Given the description of an element on the screen output the (x, y) to click on. 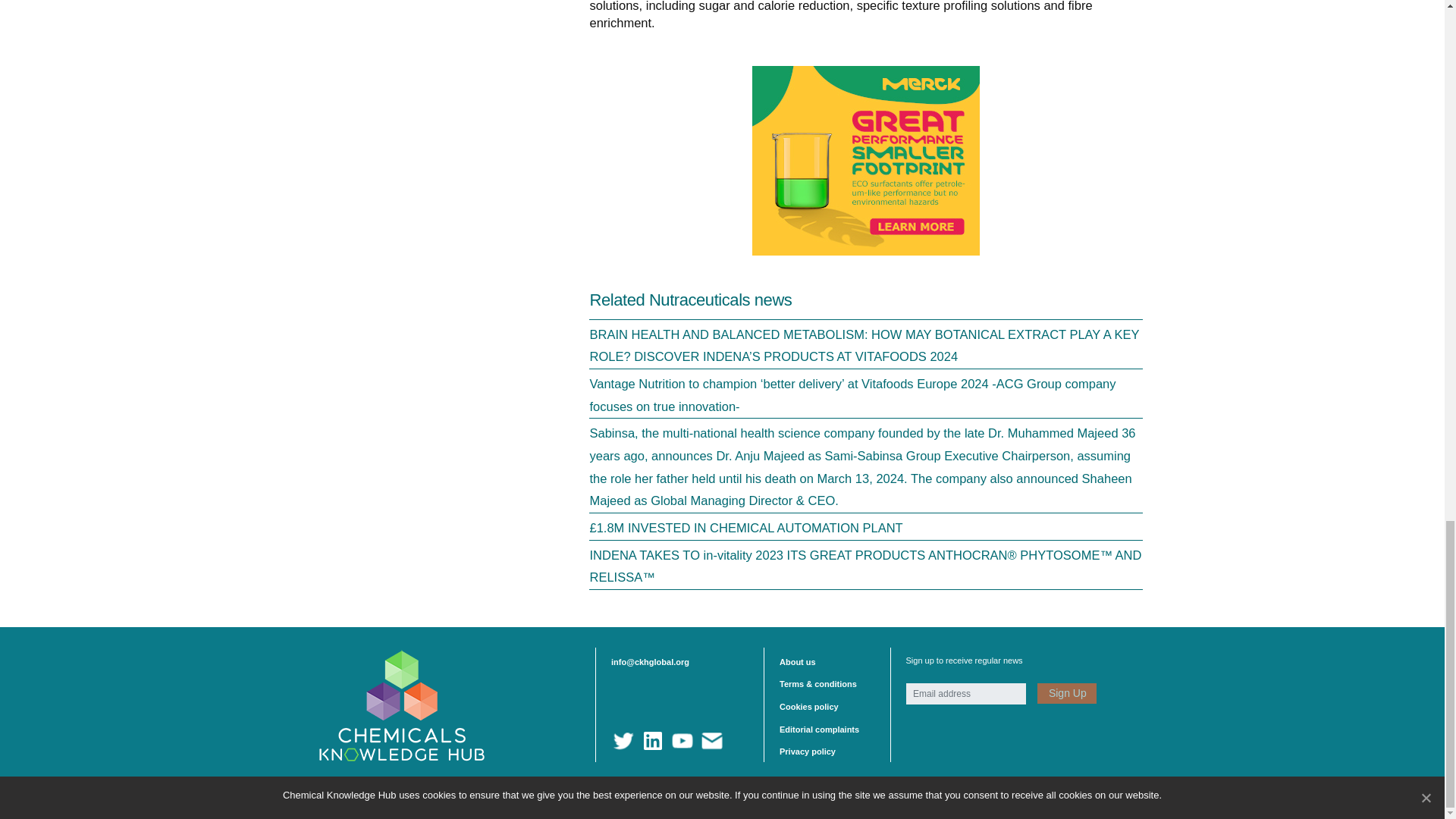
linkedin (652, 740)
Sign Up (1066, 693)
twitter (622, 740)
